Given the description of an element on the screen output the (x, y) to click on. 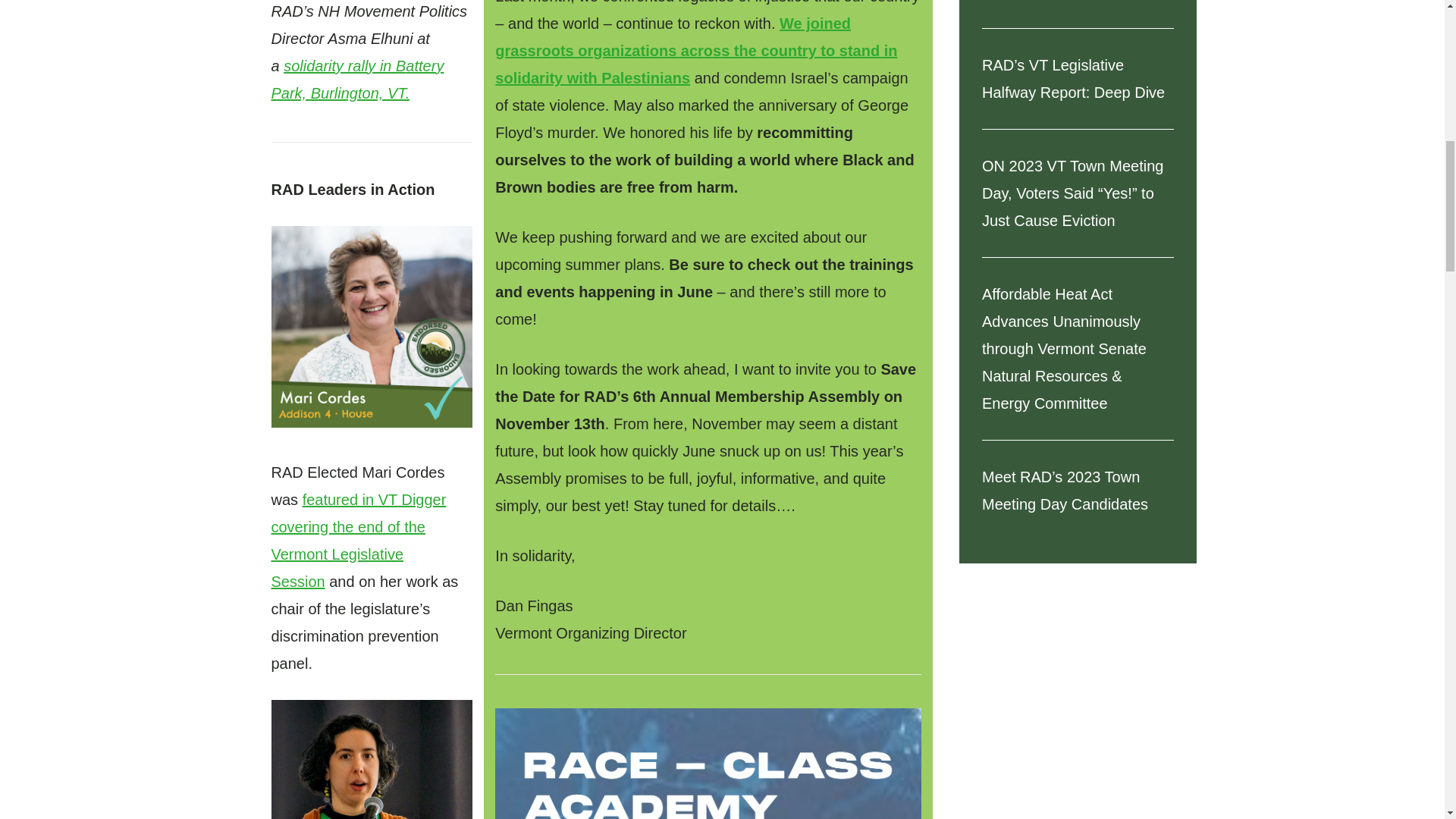
Scroll back to top (1406, 719)
